Given the description of an element on the screen output the (x, y) to click on. 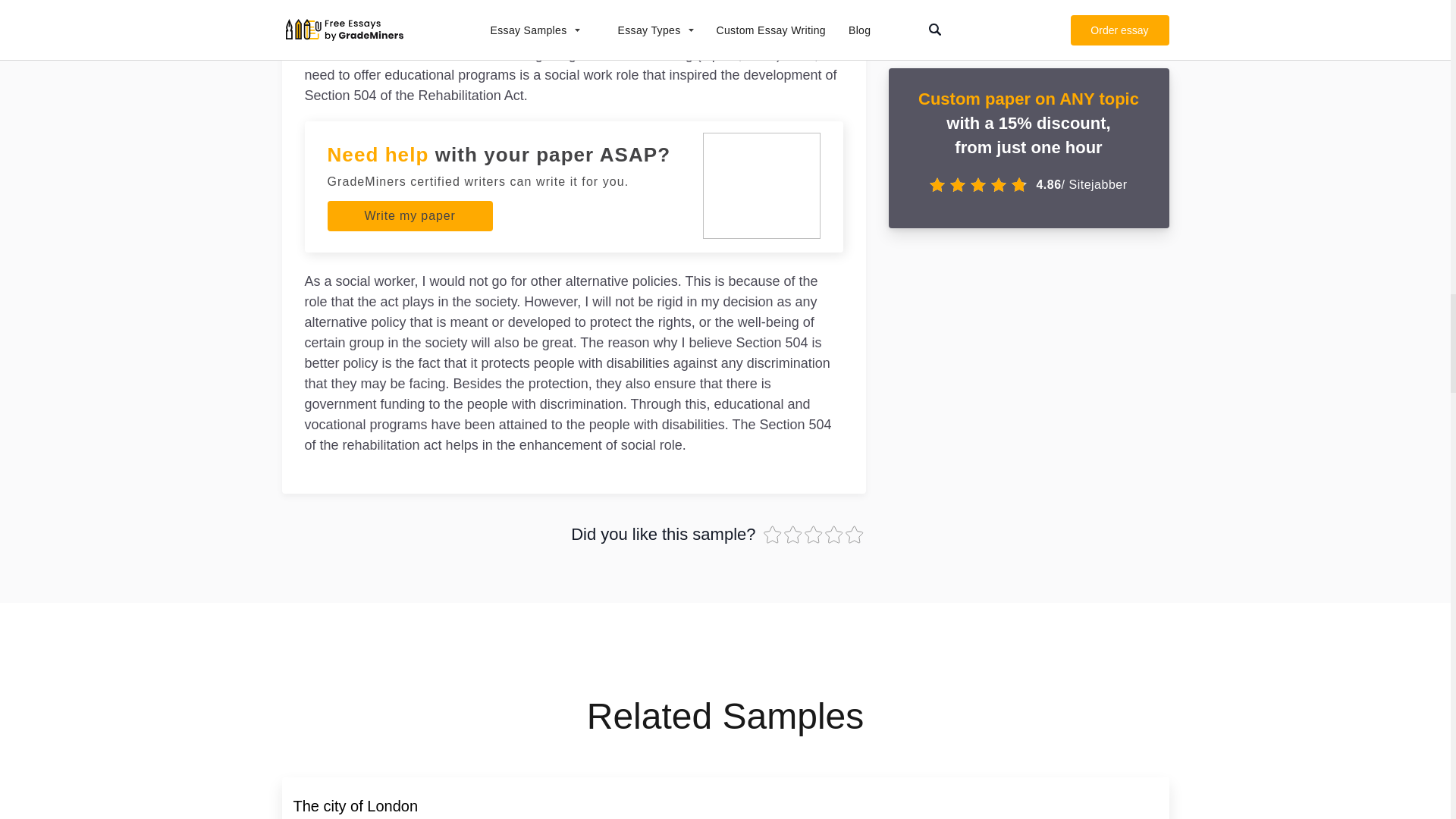
Data Collection Methods (375, 805)
18 votes, average: 4,6 out of 5 (813, 534)
18 votes, average: 4,6 out of 5 (835, 534)
18 votes, average: 4,6 out of 5 (772, 534)
18 votes, average: 4,6 out of 5 (794, 534)
18 votes, average: 4,6 out of 5 (854, 534)
